Given the description of an element on the screen output the (x, y) to click on. 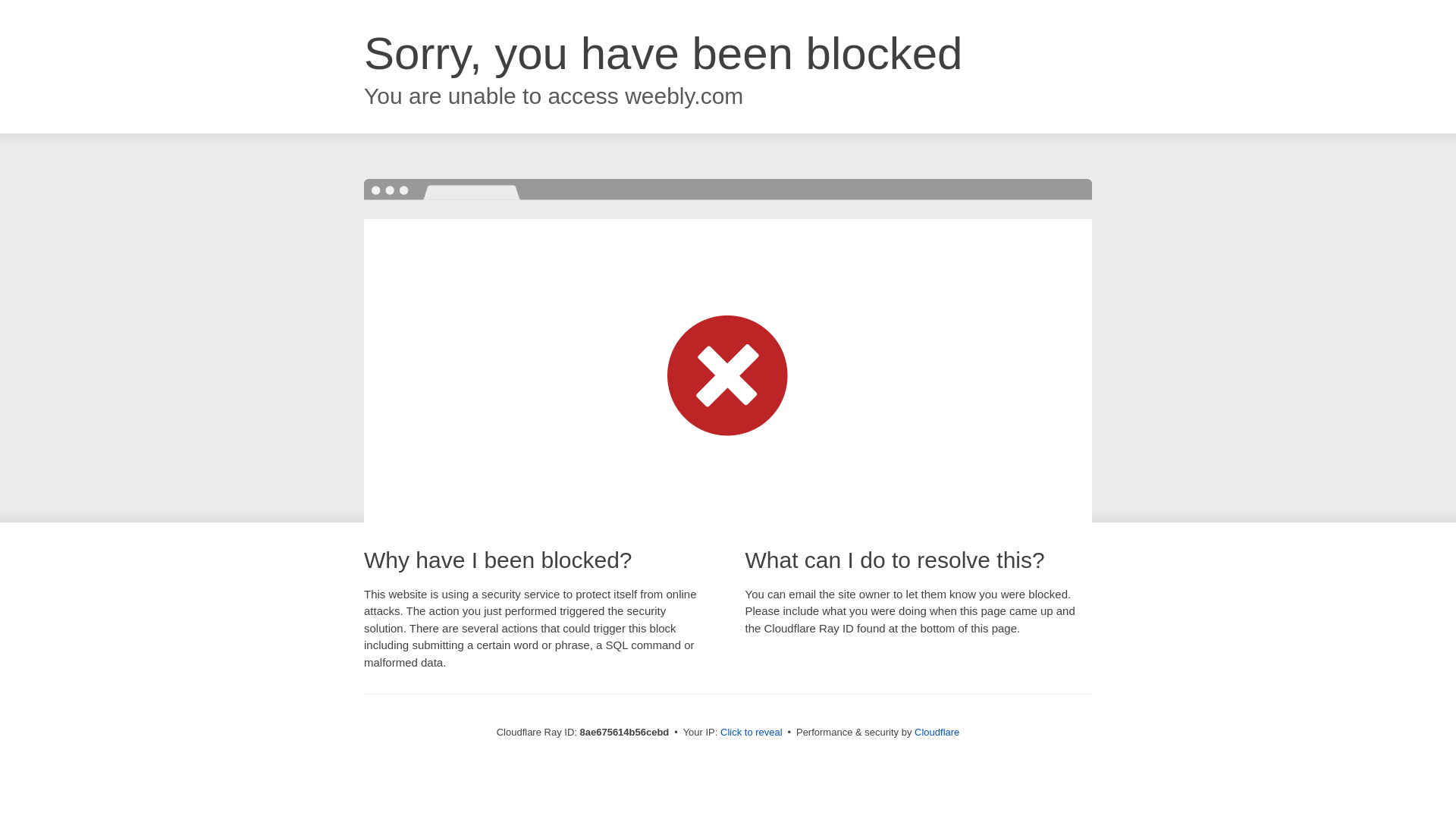
Cloudflare (936, 731)
Click to reveal (751, 732)
